Given the description of an element on the screen output the (x, y) to click on. 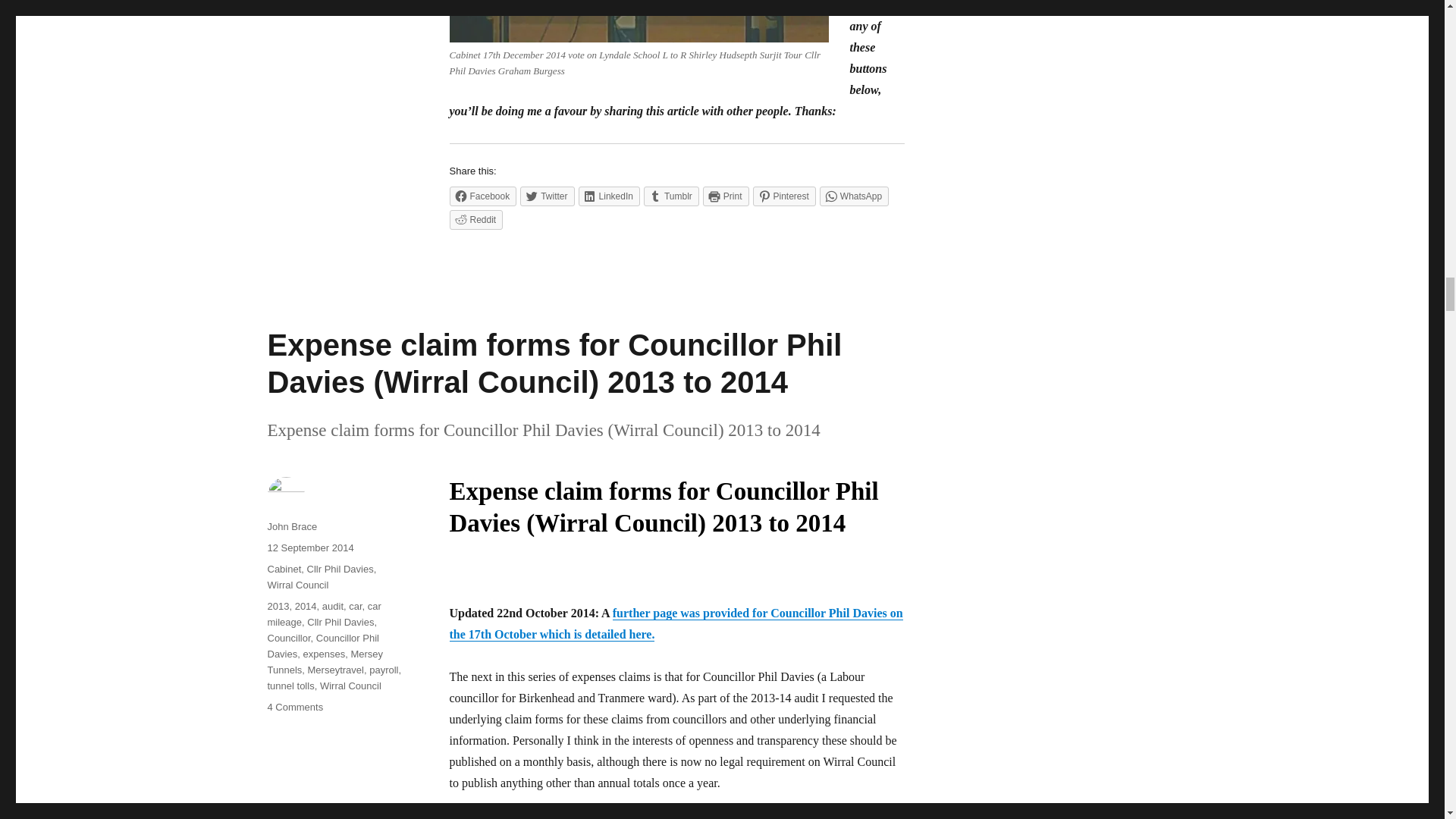
Click to share on Pinterest (783, 196)
Click to share on LinkedIn (609, 196)
Click to share on Reddit (475, 219)
Click to share on WhatsApp (853, 196)
Click to share on Twitter (546, 196)
Click to share on Tumblr (670, 196)
Click to print (726, 196)
Click to share on Facebook (482, 196)
